Given the description of an element on the screen output the (x, y) to click on. 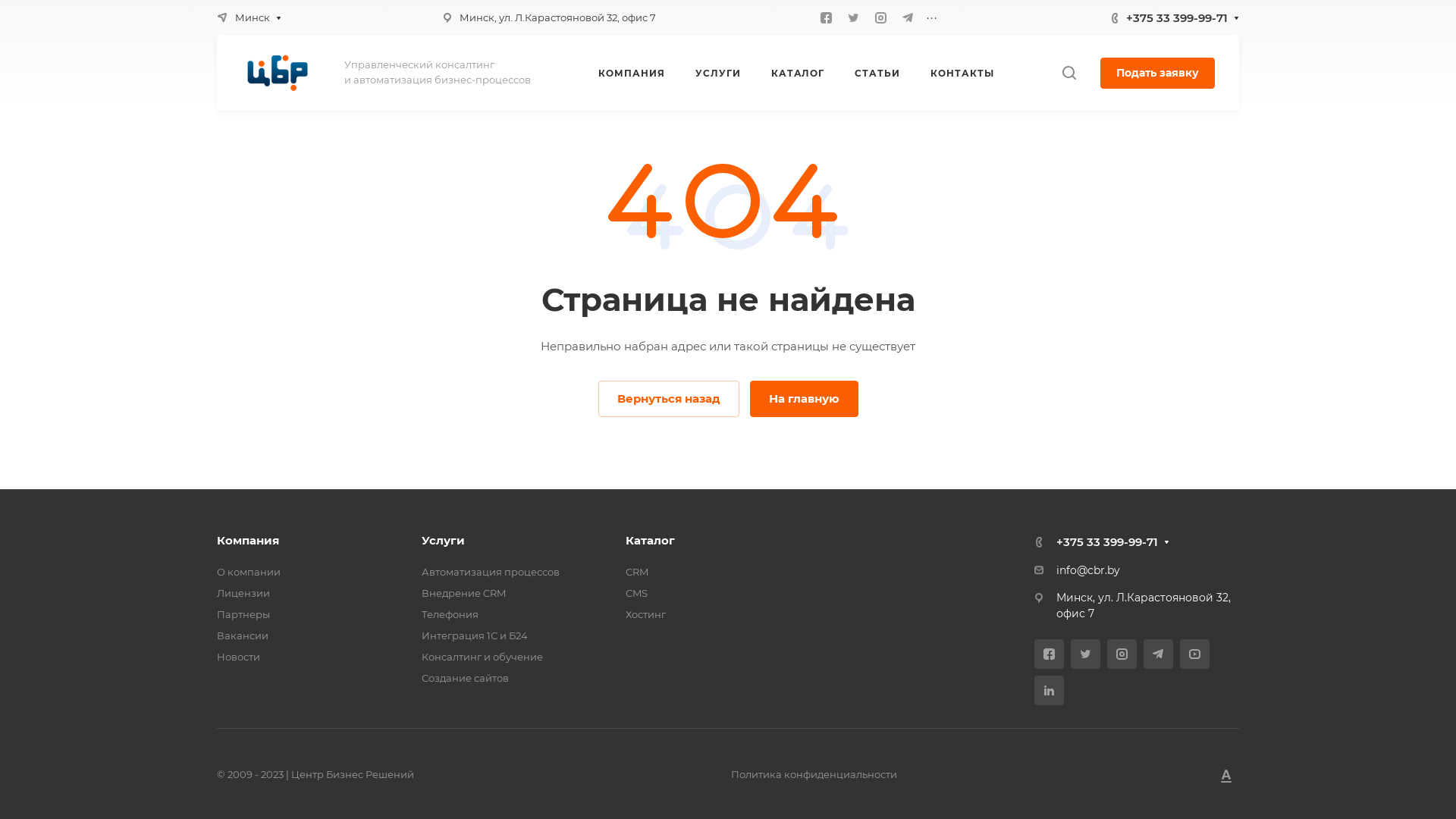
+375 33 399-99-71 Element type: text (1106, 541)
Instagram Element type: hover (1121, 653)
Telegram Element type: hover (907, 17)
YouTube Element type: hover (1194, 653)
info@cbr.by Element type: text (1088, 570)
+375 33 399-99-71 Element type: text (1176, 16)
Facebook Element type: hover (1048, 653)
Telegram Element type: hover (1158, 653)
Alfa Element type: hover (1225, 775)
Instagram Element type: hover (880, 17)
Twitter Element type: hover (1085, 653)
Twitter Element type: hover (852, 17)
CMS Element type: text (636, 592)
CRM Element type: text (636, 571)
LinkedIn Element type: hover (1048, 690)
Facebook Element type: hover (825, 17)
